Given the description of an element on the screen output the (x, y) to click on. 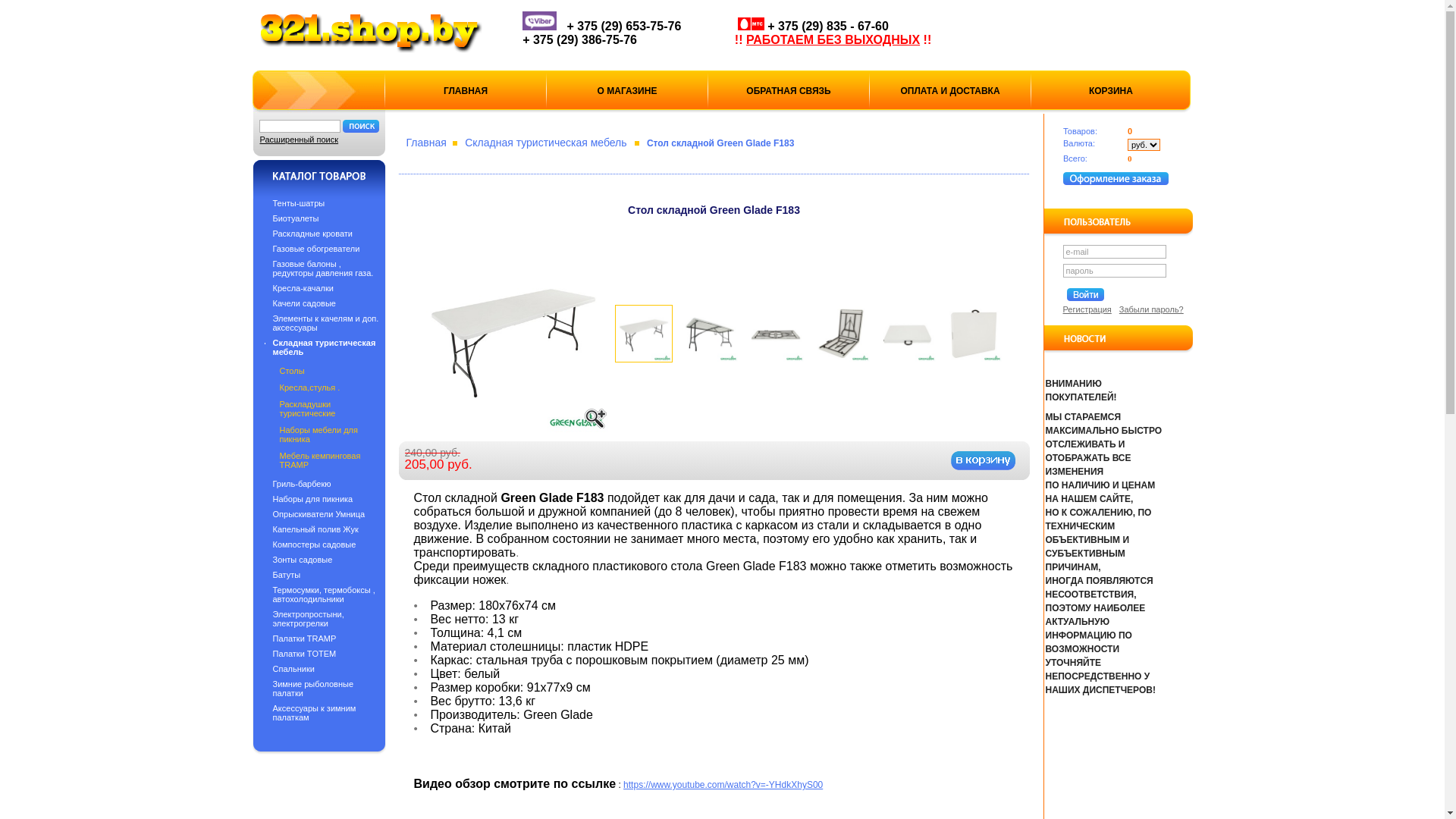
https://www.youtube.com/watch?v=-YHdkXhyS00 Element type: text (722, 784)
e-mail Element type: text (1113, 251)
